Given the description of an element on the screen output the (x, y) to click on. 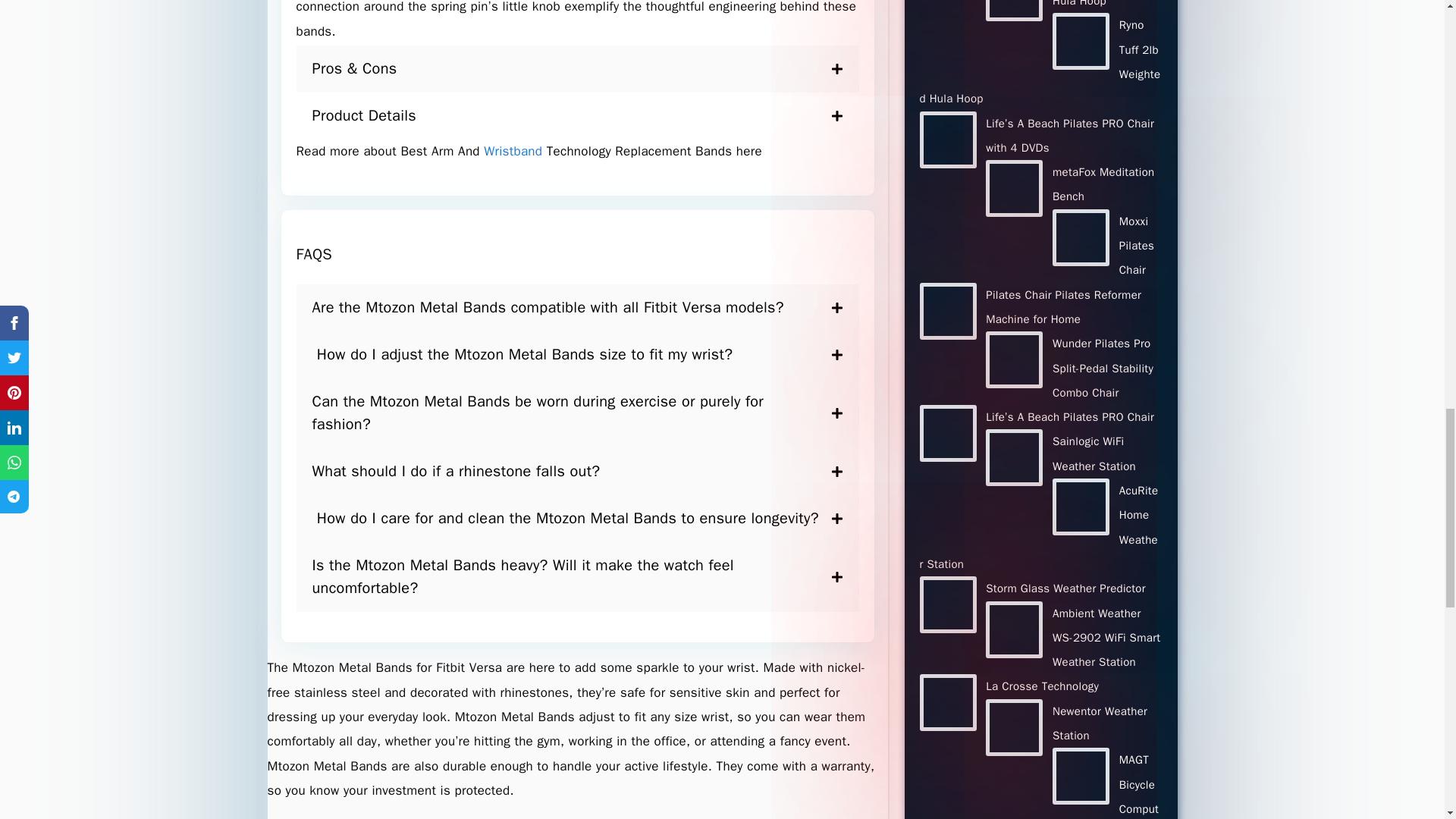
What should I do if a rhinestone falls out? (577, 471)
Wristband (514, 150)
Product Details (577, 115)
